Given the description of an element on the screen output the (x, y) to click on. 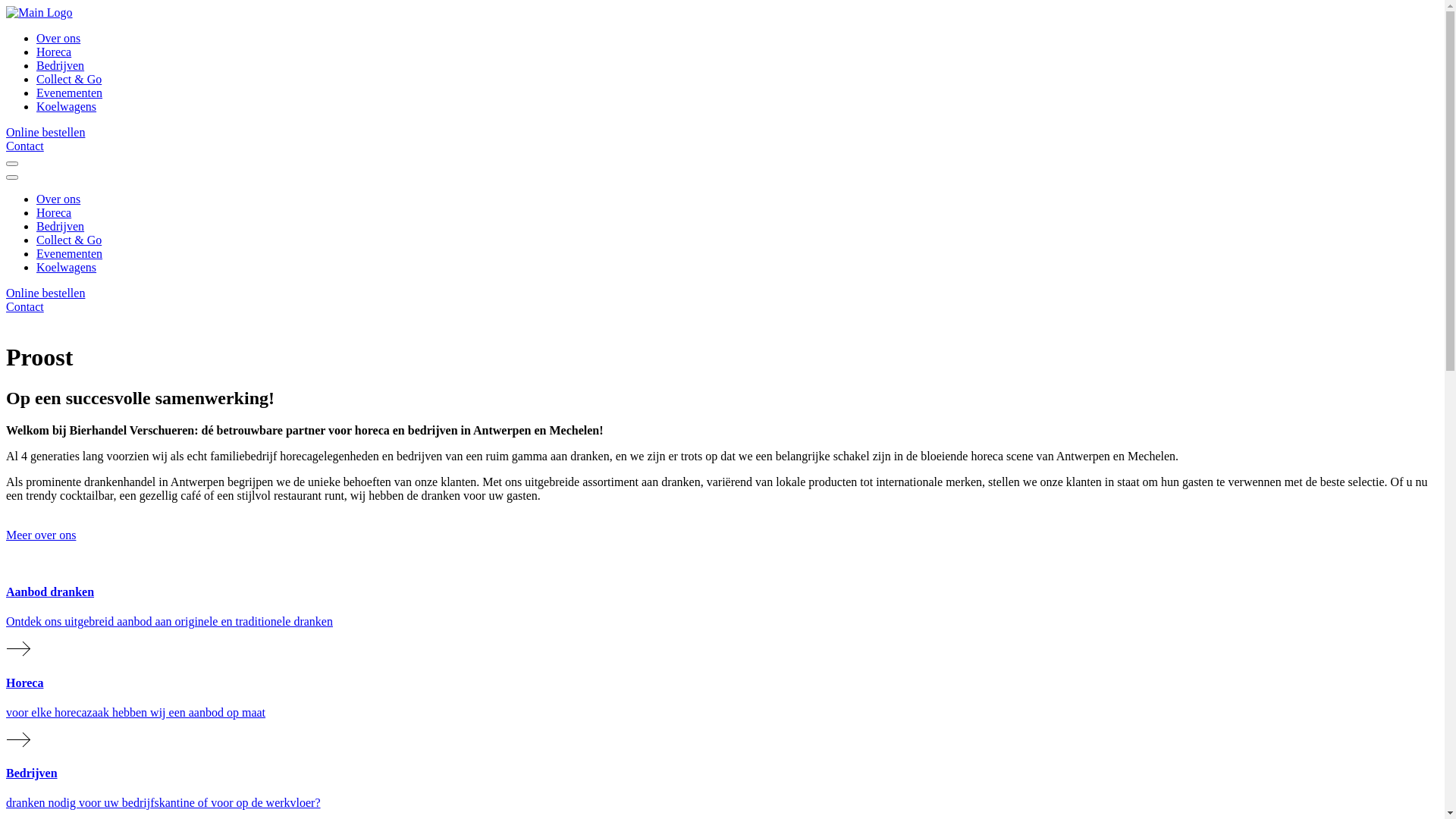
Evenementen Element type: text (69, 92)
Meer over ons Element type: text (40, 534)
Horeca Element type: text (53, 51)
Over ons Element type: text (58, 37)
Collect & Go Element type: text (68, 239)
Over ons Element type: text (58, 198)
Horeca
voor elke horecazaak hebben wij een aanbod op maat Element type: text (722, 713)
Collect & Go Element type: text (68, 78)
Horeca Element type: text (53, 212)
Contact Element type: text (24, 306)
Koelwagens Element type: text (66, 106)
Online bestellen Element type: text (45, 131)
Online bestellen Element type: text (45, 292)
Contact Element type: text (24, 145)
Evenementen Element type: text (69, 253)
Bedrijven Element type: text (60, 65)
Bedrijven Element type: text (60, 225)
Koelwagens Element type: text (66, 266)
